Given the description of an element on the screen output the (x, y) to click on. 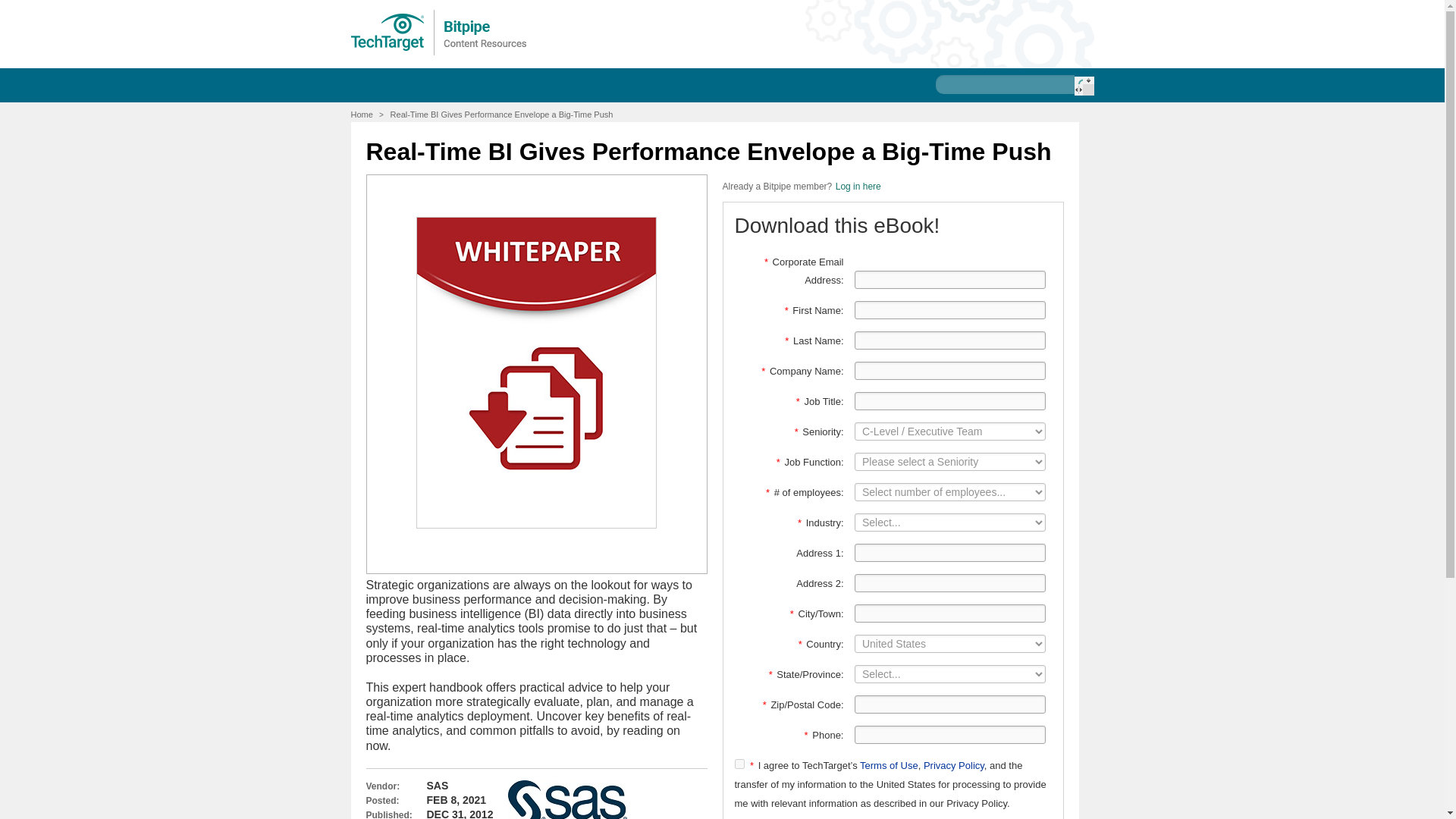
Terms of Use (889, 765)
true (738, 764)
Search (1083, 85)
Search (1083, 85)
Privacy Policy (953, 765)
Log in here (857, 185)
Bitpipe (439, 32)
Home (361, 113)
